Given the description of an element on the screen output the (x, y) to click on. 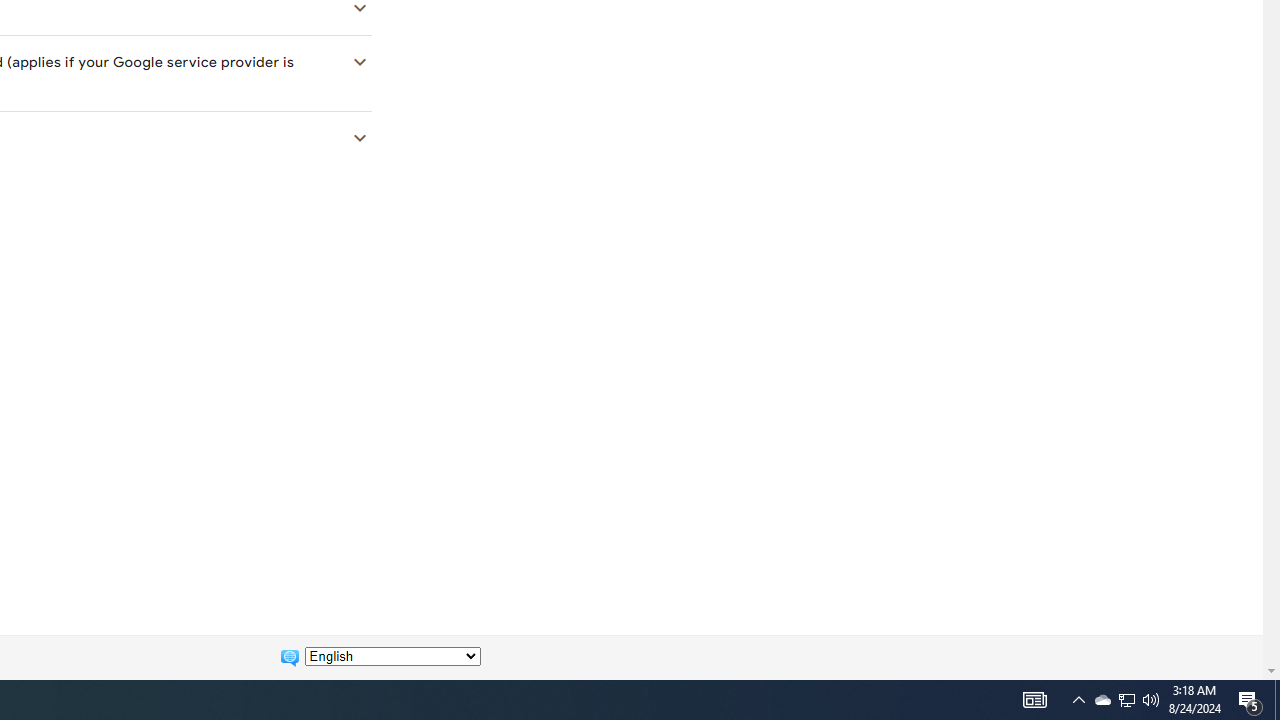
Change language: (392, 656)
